Given the description of an element on the screen output the (x, y) to click on. 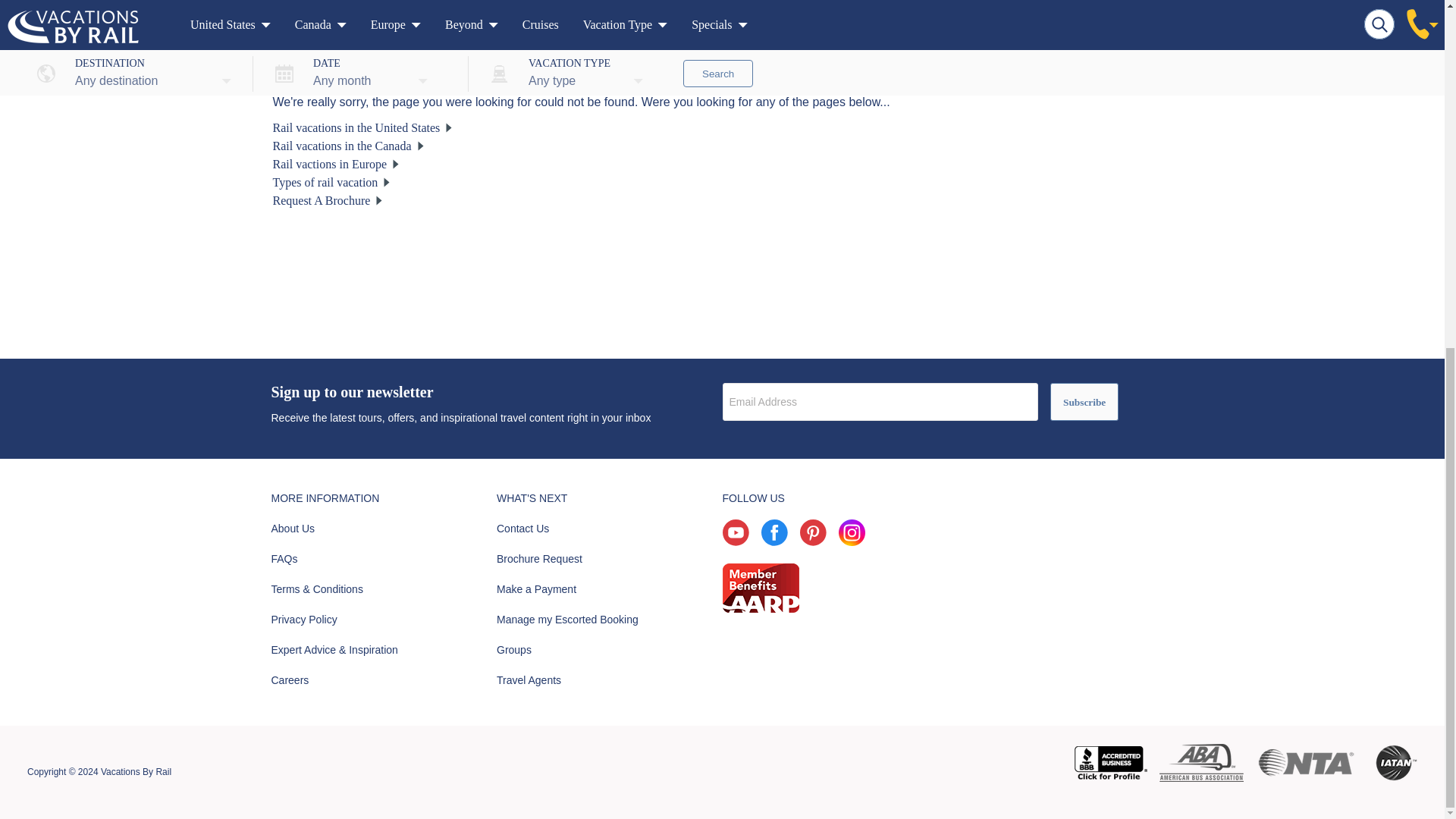
Types of rail vacation (331, 182)
United States (362, 127)
Travel Agents (528, 680)
Rail vactions in Europe (335, 164)
Groups (513, 649)
FAQs (284, 558)
Careers (289, 680)
FaceBook (774, 541)
Rail vacations in the United States (362, 127)
Home (295, 11)
Pinterest (812, 541)
Europe (335, 164)
YouTube (735, 541)
Make a Payment (536, 589)
Request A Brochure (327, 200)
